Given the description of an element on the screen output the (x, y) to click on. 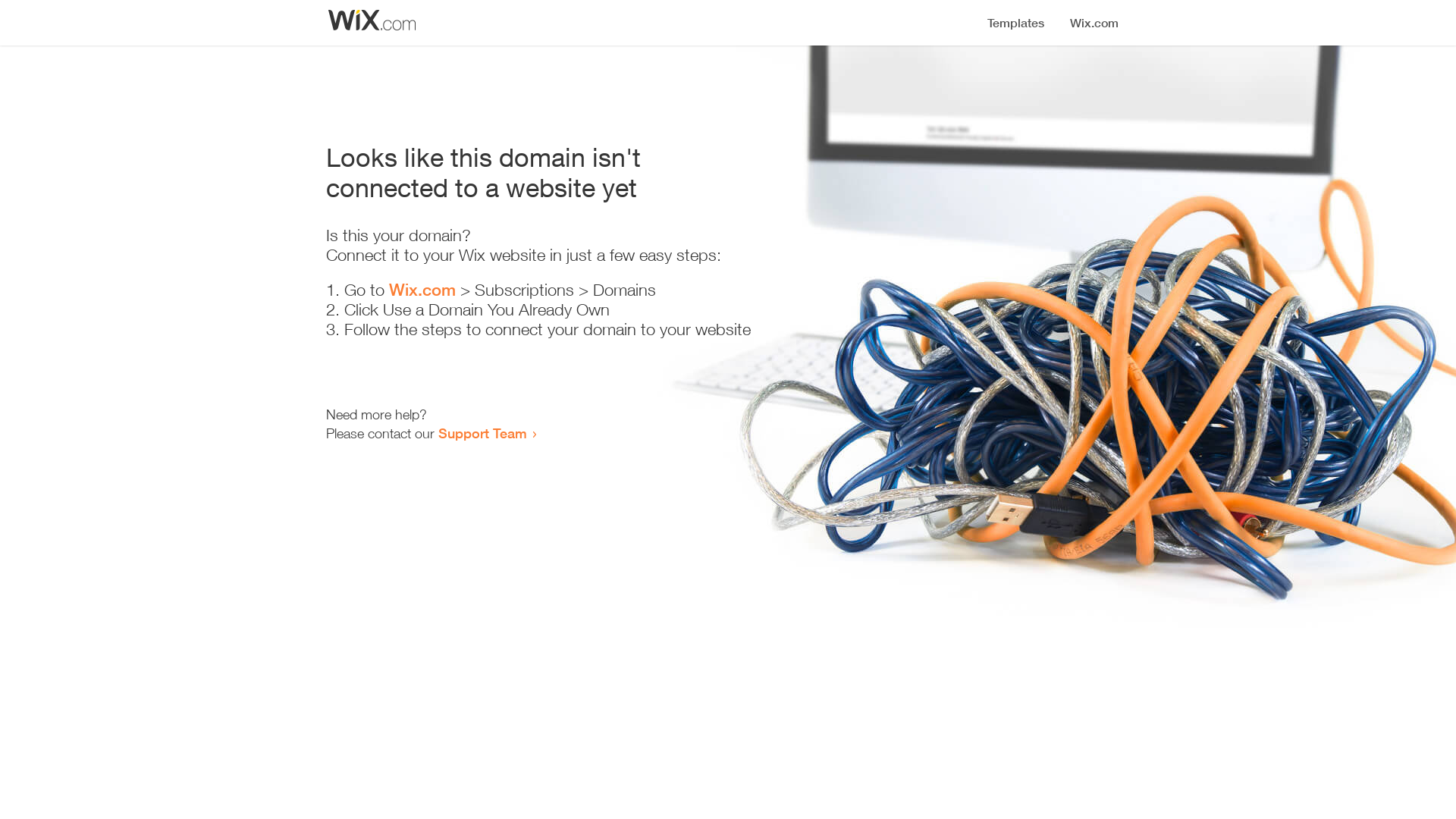
Wix.com Element type: text (422, 289)
Support Team Element type: text (482, 432)
